Given the description of an element on the screen output the (x, y) to click on. 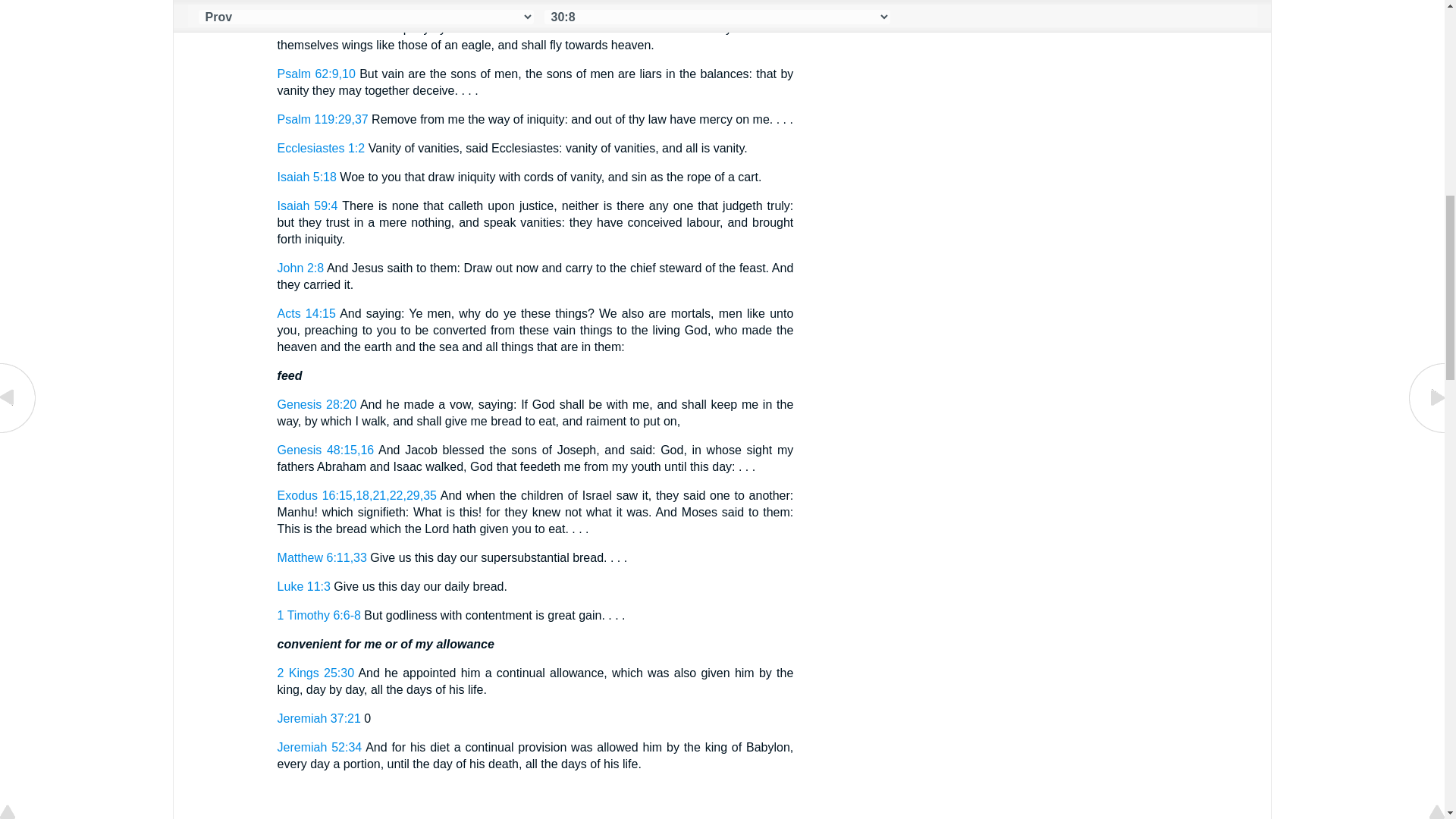
John 2:8 (301, 267)
Isaiah 59:4 (307, 205)
Psalm 119:29,37 (323, 119)
Exodus 16:15,18,21,22,29,35 (357, 495)
Jeremiah 37:21 (319, 717)
1 Timothy 6:6-8 (319, 615)
Isaiah 5:18 (307, 176)
Genesis 48:15,16 (326, 449)
Luke 11:3 (304, 585)
Acts 14:15 (307, 313)
Ecclesiastes 1:2 (321, 147)
Matthew 6:11,33 (322, 557)
2 Kings 25:30 (315, 672)
Psalm 62:9,10 (316, 73)
Genesis 28:20 (317, 404)
